Given the description of an element on the screen output the (x, y) to click on. 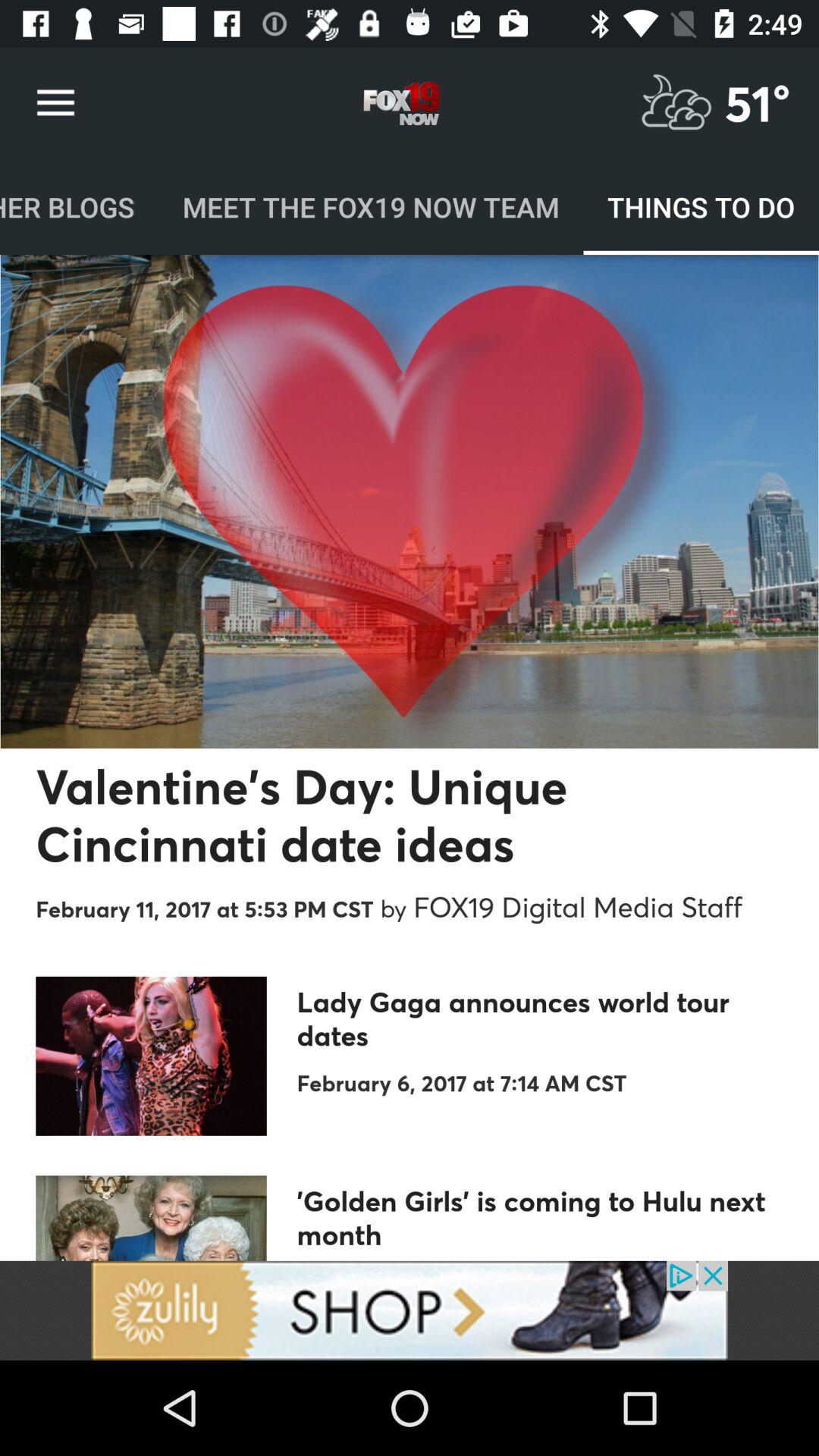
current conditions (676, 103)
